Given the description of an element on the screen output the (x, y) to click on. 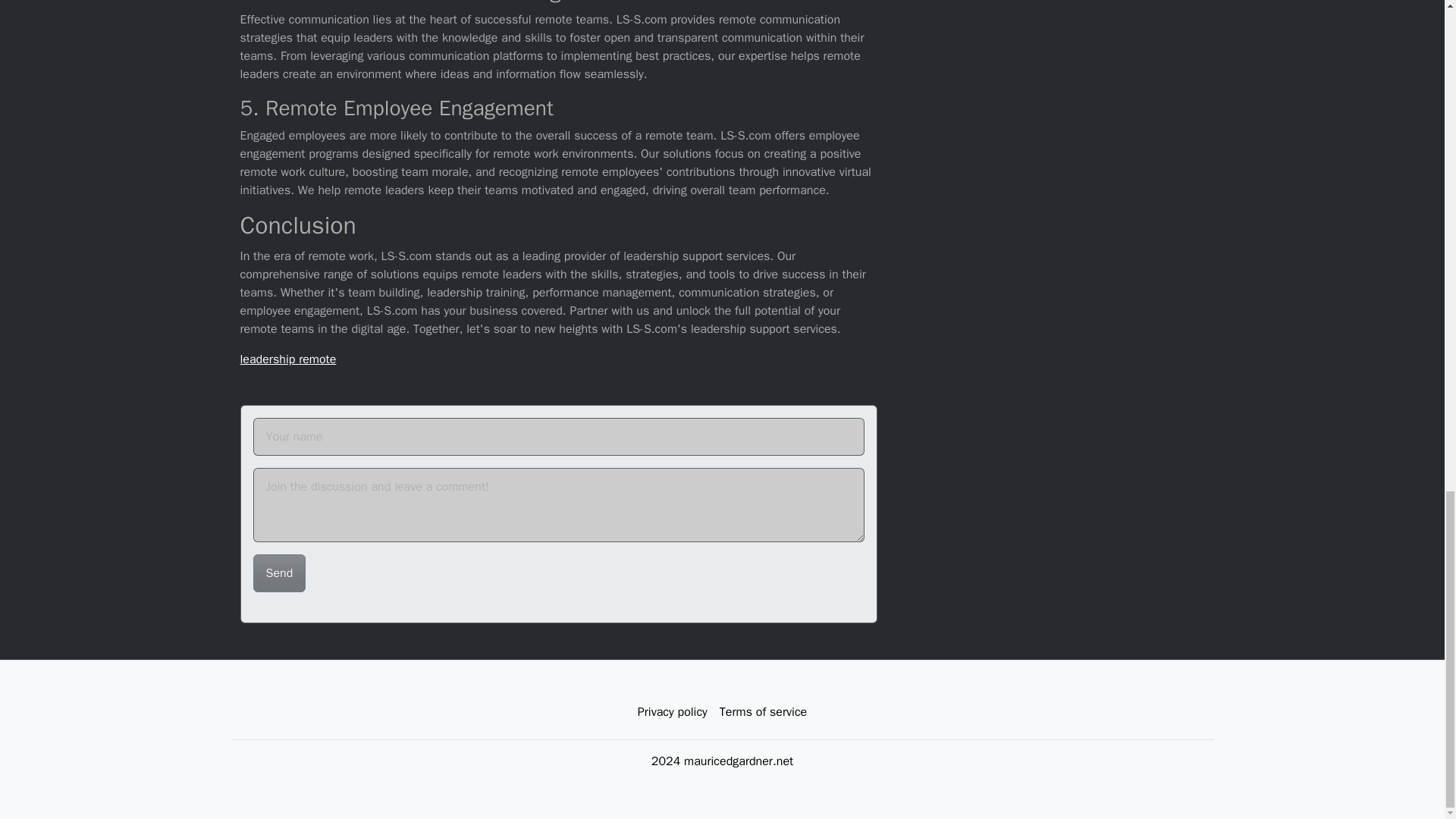
Send (279, 573)
Send (279, 573)
Privacy policy (672, 711)
Terms of service (762, 711)
leadership remote (288, 359)
